Given the description of an element on the screen output the (x, y) to click on. 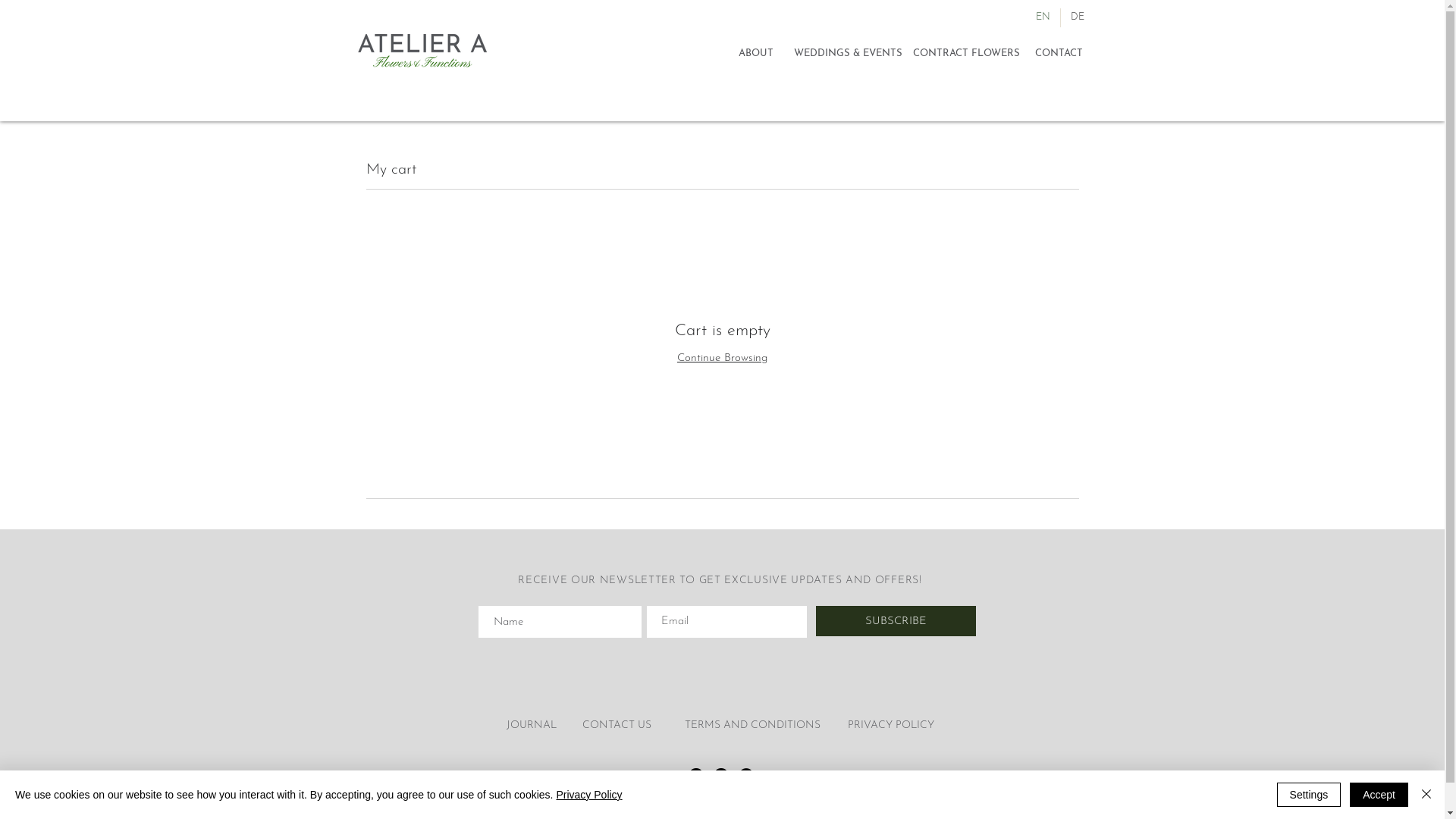
CONTACT US Element type: text (616, 725)
DE Element type: text (1077, 17)
CONTACT Element type: text (1058, 53)
Privacy Policy Element type: text (588, 794)
PRIVACY POLICY Element type: text (890, 725)
Continue Browsing Element type: text (722, 358)
CONTRACT FLOWERS Element type: text (966, 53)
JOURNAL Element type: text (531, 725)
Settings Element type: text (1309, 794)
ABOUT Element type: text (755, 53)
SUBSCRIBE Element type: text (895, 620)
TERMS AND CONDITIONS Element type: text (754, 725)
WEDDINGS & EVENTS Element type: text (847, 53)
EN Element type: text (1042, 17)
Accept Element type: text (1378, 794)
